Given the description of an element on the screen output the (x, y) to click on. 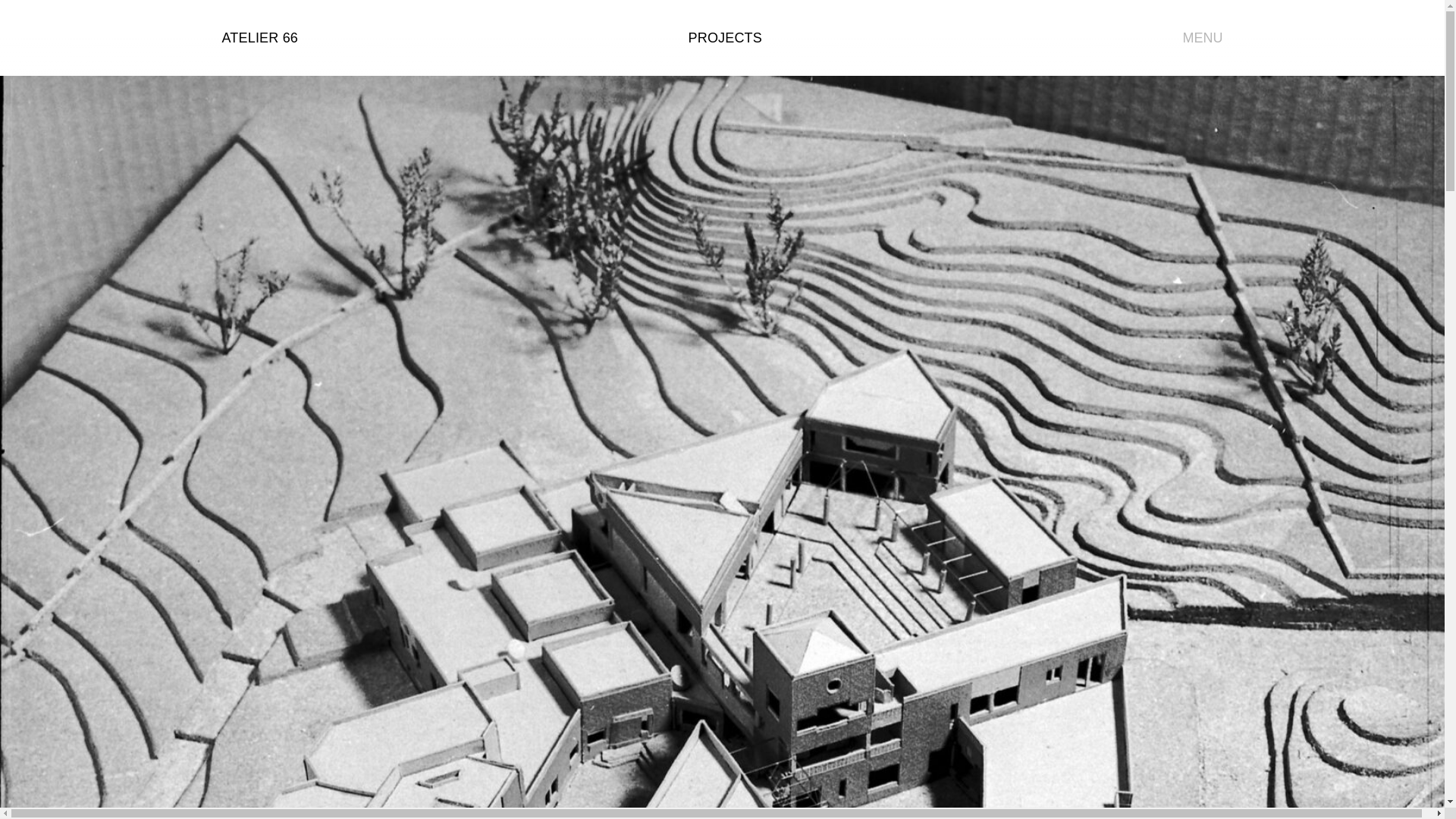
ATELIER 66 (259, 37)
PROJECTS (724, 37)
MENU (1188, 37)
